Given the description of an element on the screen output the (x, y) to click on. 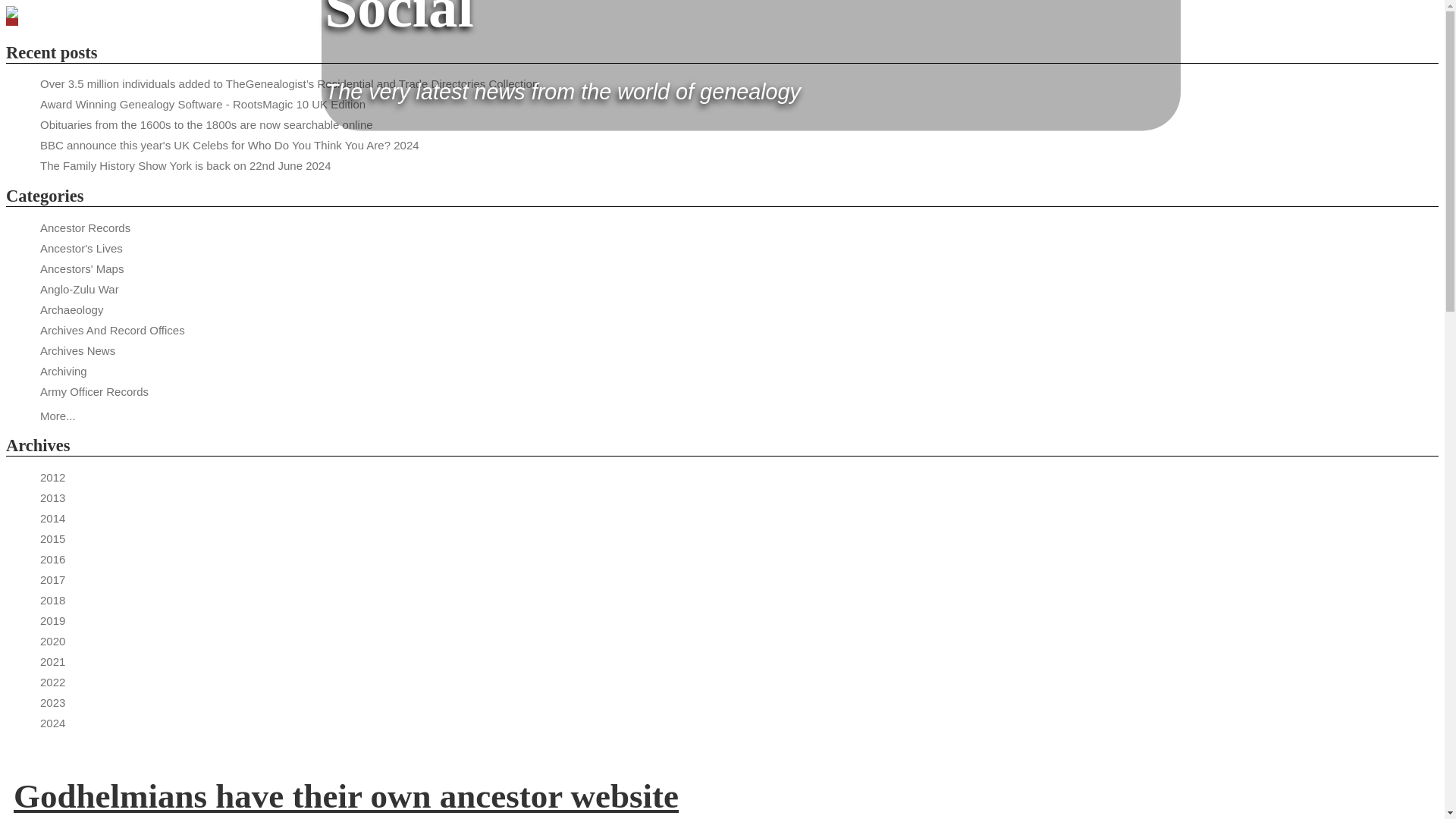
Ancestors' Maps (81, 268)
Anglo-Zulu War (79, 288)
The Family History Show York is back on 22nd June 2024 (185, 164)
Archaeology (71, 309)
Ancestor Records (85, 227)
Archives And Record Offices (112, 329)
Archives News (77, 350)
Award Winning Genealogy Software - RootsMagic 10 UK Edition (202, 103)
